Given the description of an element on the screen output the (x, y) to click on. 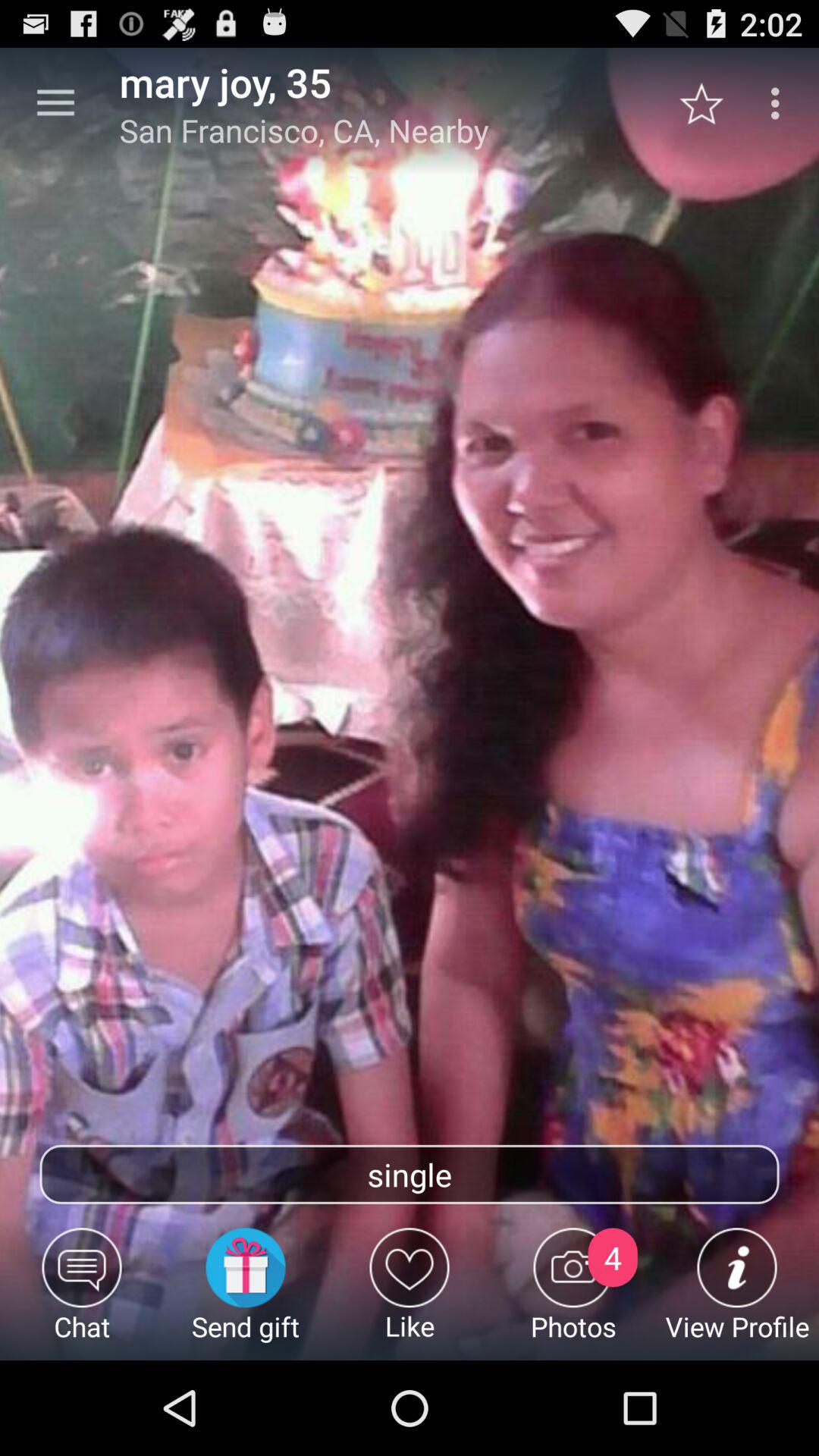
swipe until photos (573, 1293)
